Given the description of an element on the screen output the (x, y) to click on. 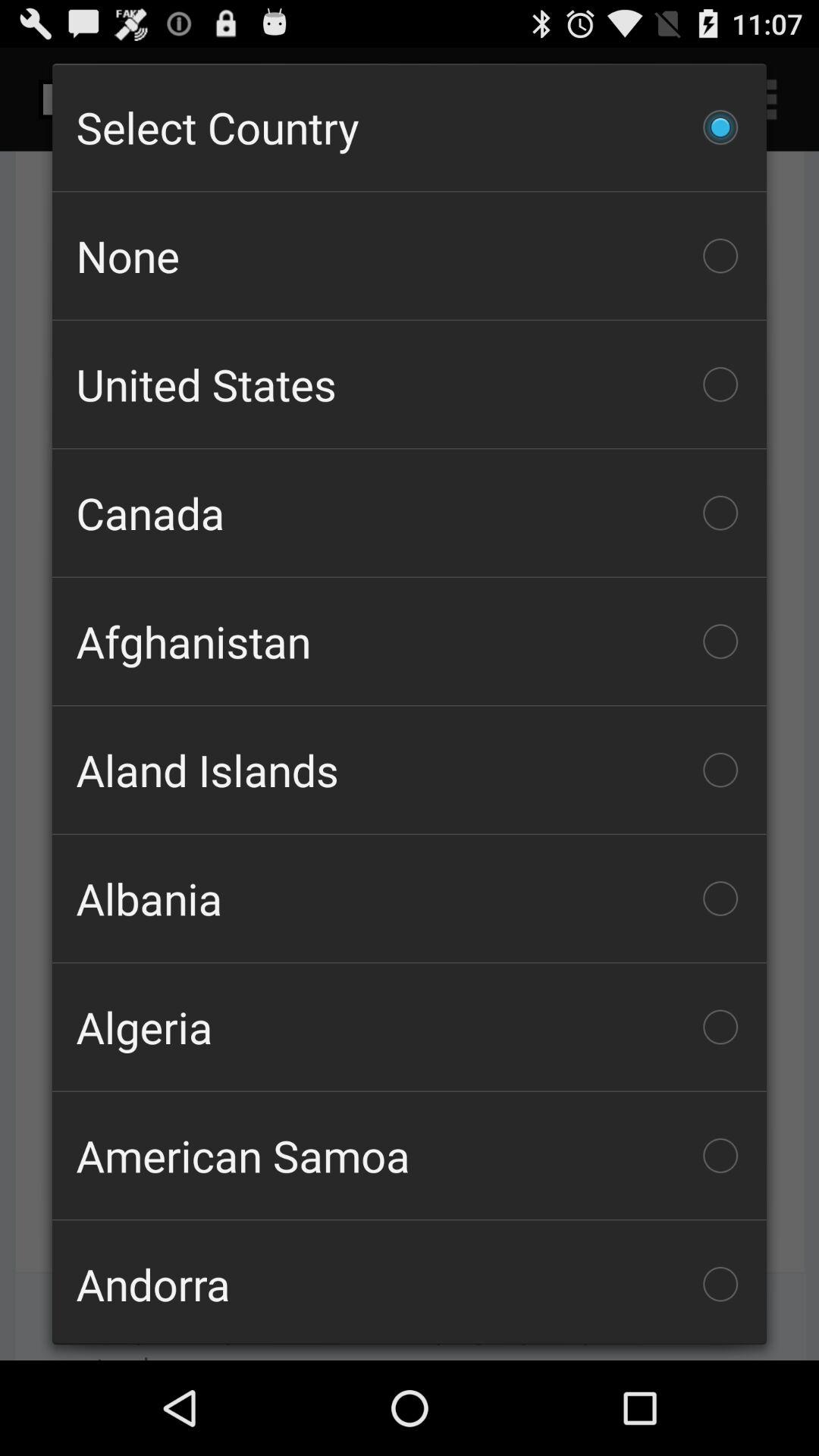
select andorra (409, 1282)
